Given the description of an element on the screen output the (x, y) to click on. 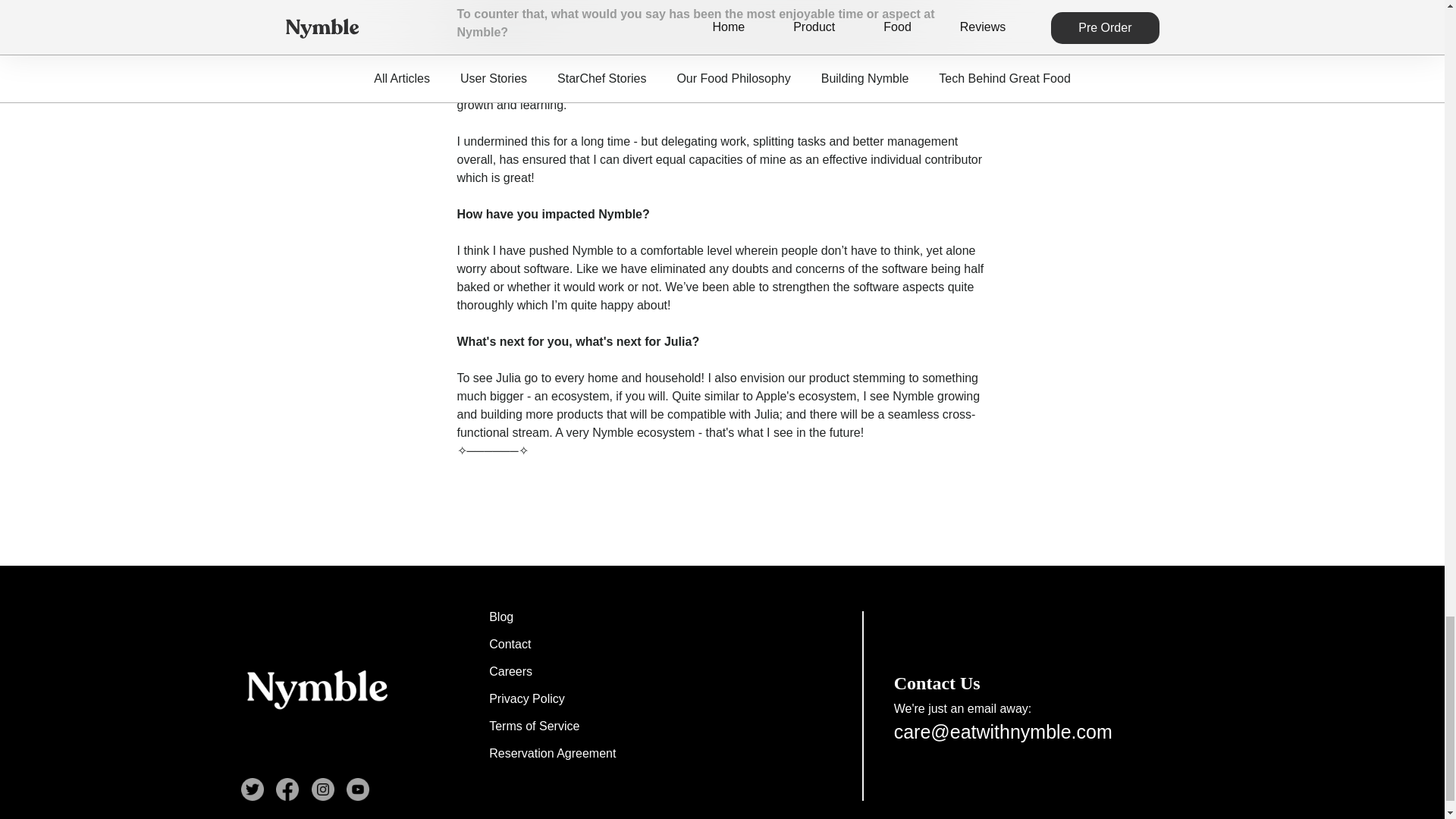
Reservation Agreement (552, 753)
Careers (552, 671)
Privacy Policy (552, 698)
Terms of Service (552, 726)
Blog (552, 616)
Contact (552, 644)
We're just an email away: (1048, 708)
